Given the description of an element on the screen output the (x, y) to click on. 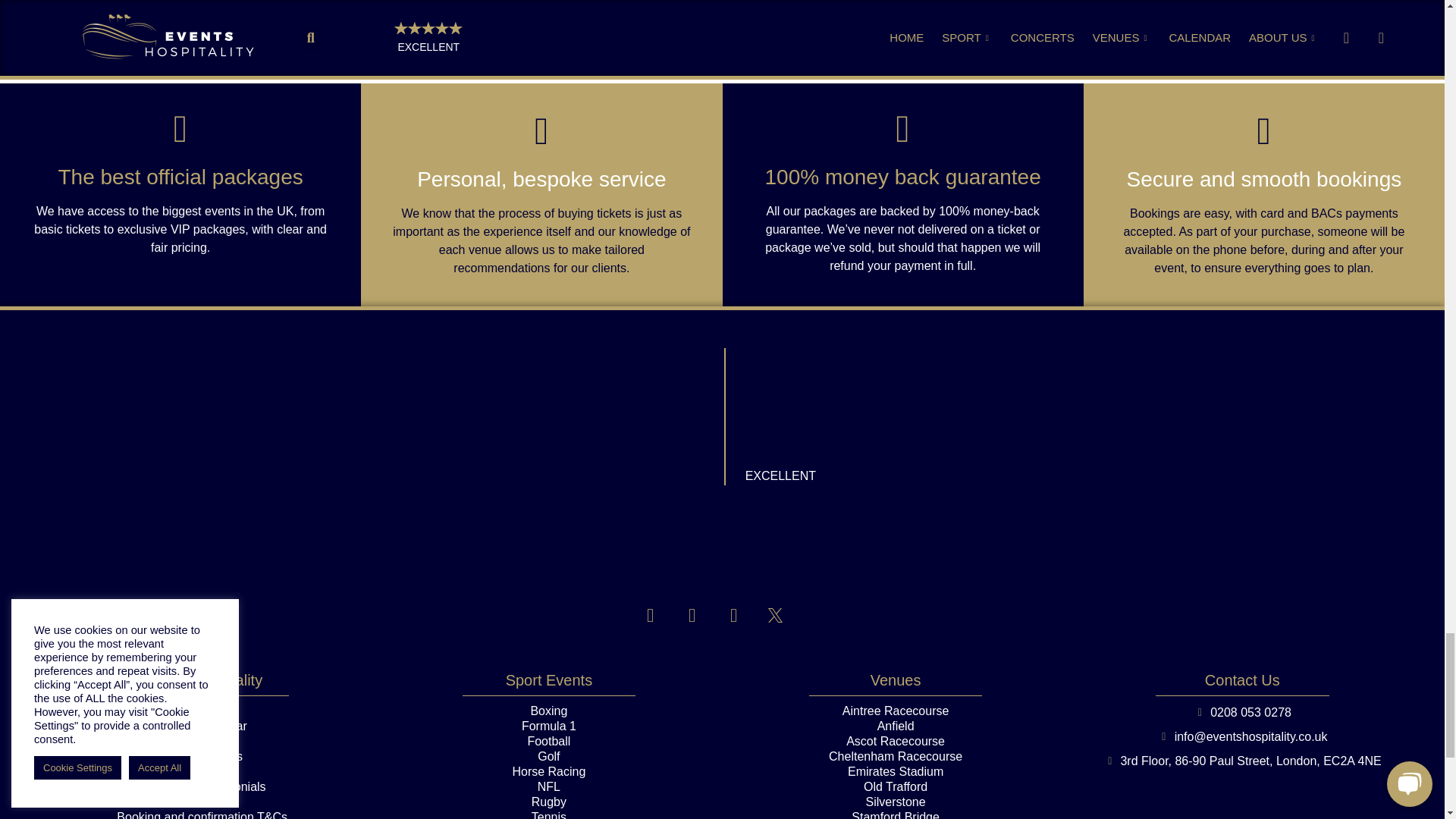
Review Rating (800, 404)
Events Hospitality (586, 404)
Club Wembley OTA-Logo (724, 544)
